Given the description of an element on the screen output the (x, y) to click on. 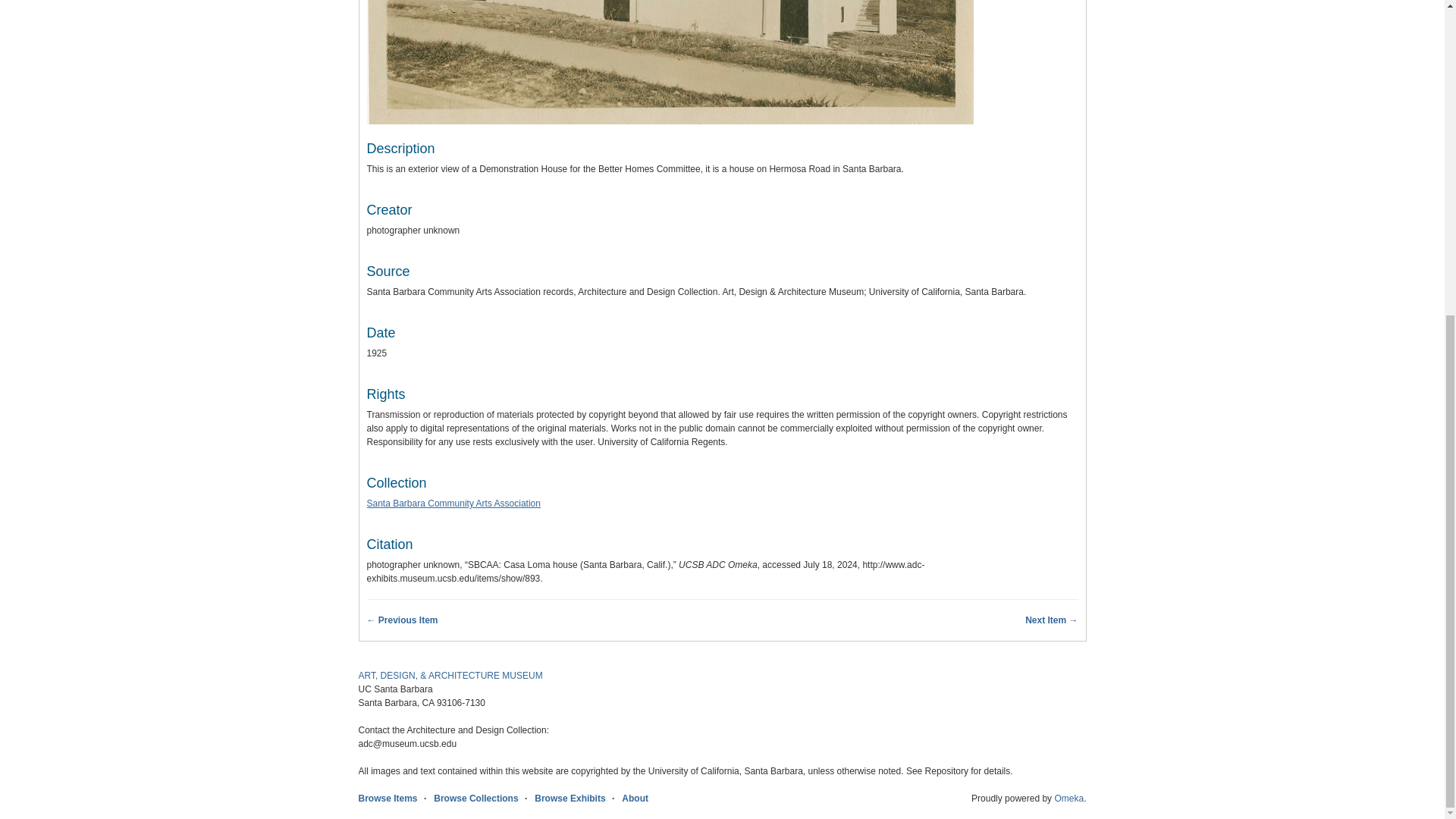
Omeka (1068, 798)
Browse Collections (475, 798)
Browse Items (387, 798)
Santa Barbara Community Arts Association (453, 502)
Browse Exhibits (569, 798)
About (634, 798)
